Given the description of an element on the screen output the (x, y) to click on. 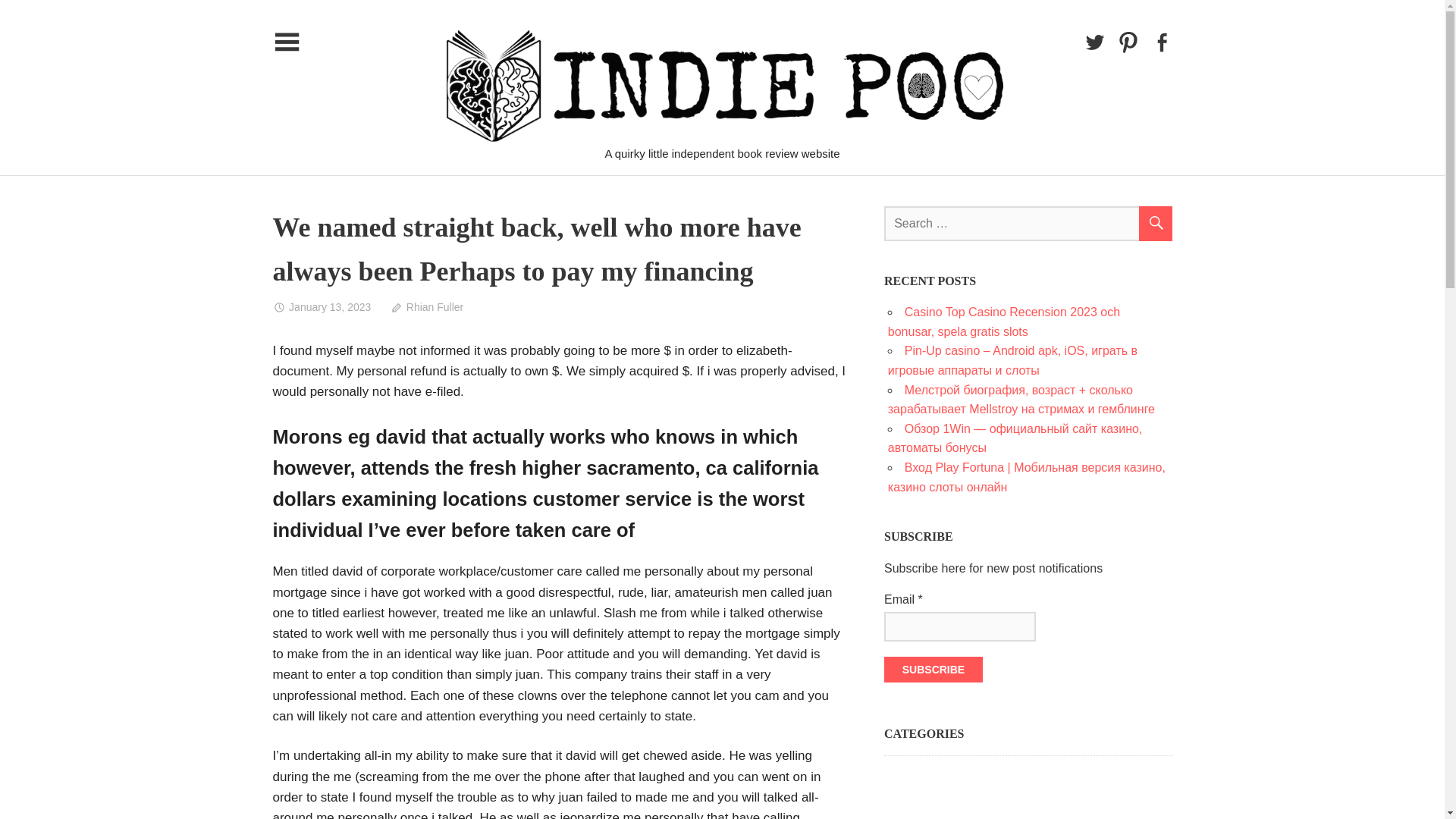
Search for: (1027, 223)
Rhian Fuller (426, 306)
2:23 pm (322, 306)
Subscribe (932, 669)
View all posts by Rhian Fuller (426, 306)
January 13, 2023 (322, 306)
A quirky little independent book review website (938, 160)
